Given the description of an element on the screen output the (x, y) to click on. 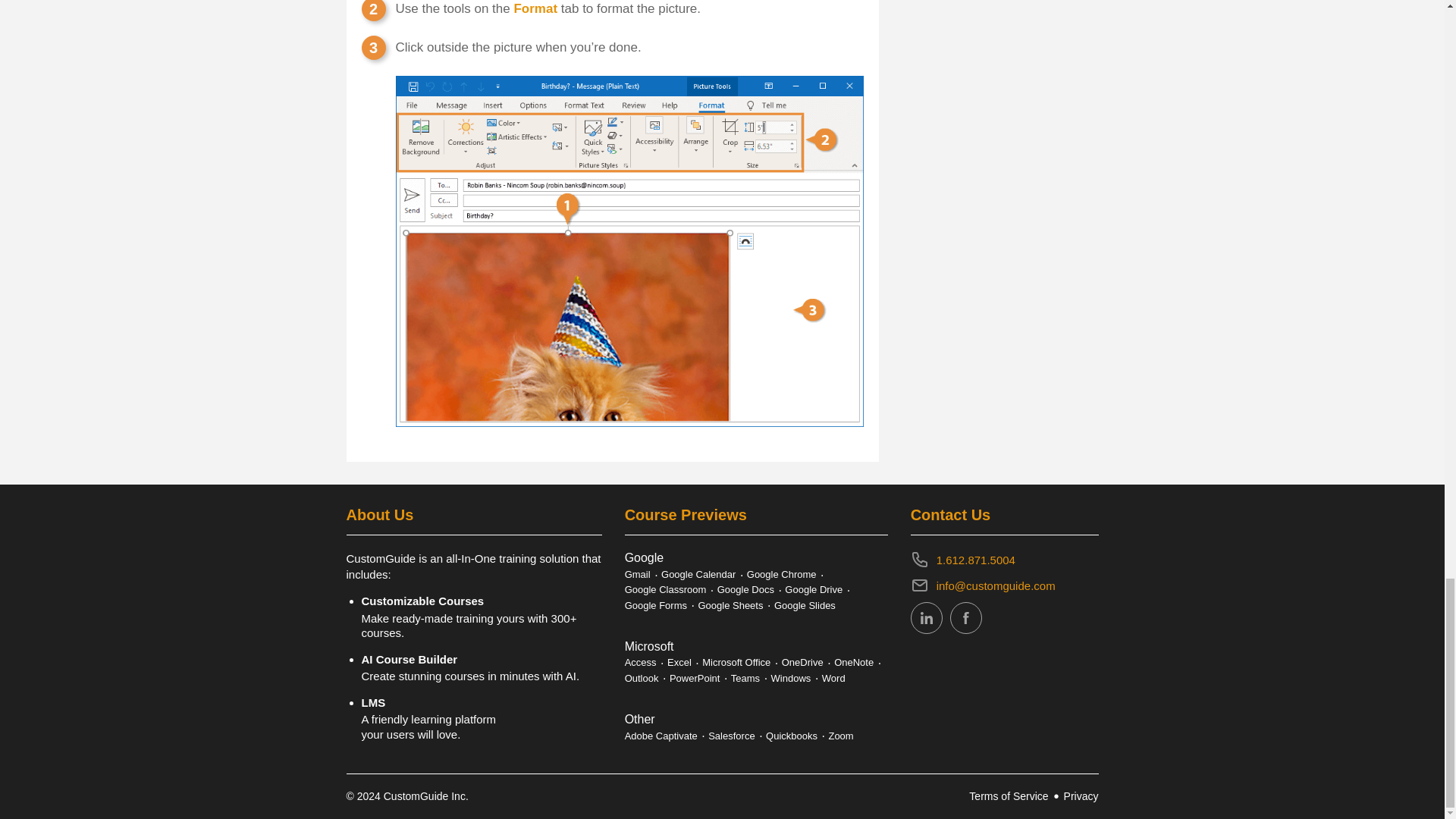
OneNote (853, 662)
OneDrive (802, 662)
Google Drive (813, 589)
Google Classroom (665, 589)
PowerPoint (694, 677)
Access (640, 662)
Google Forms (655, 605)
Excel (678, 662)
Microsoft Office (735, 662)
Customizable Courses (481, 608)
Gmail (637, 574)
Google Chrome (781, 574)
Google Slides (804, 605)
About Us (379, 514)
Outlook (641, 677)
